Given the description of an element on the screen output the (x, y) to click on. 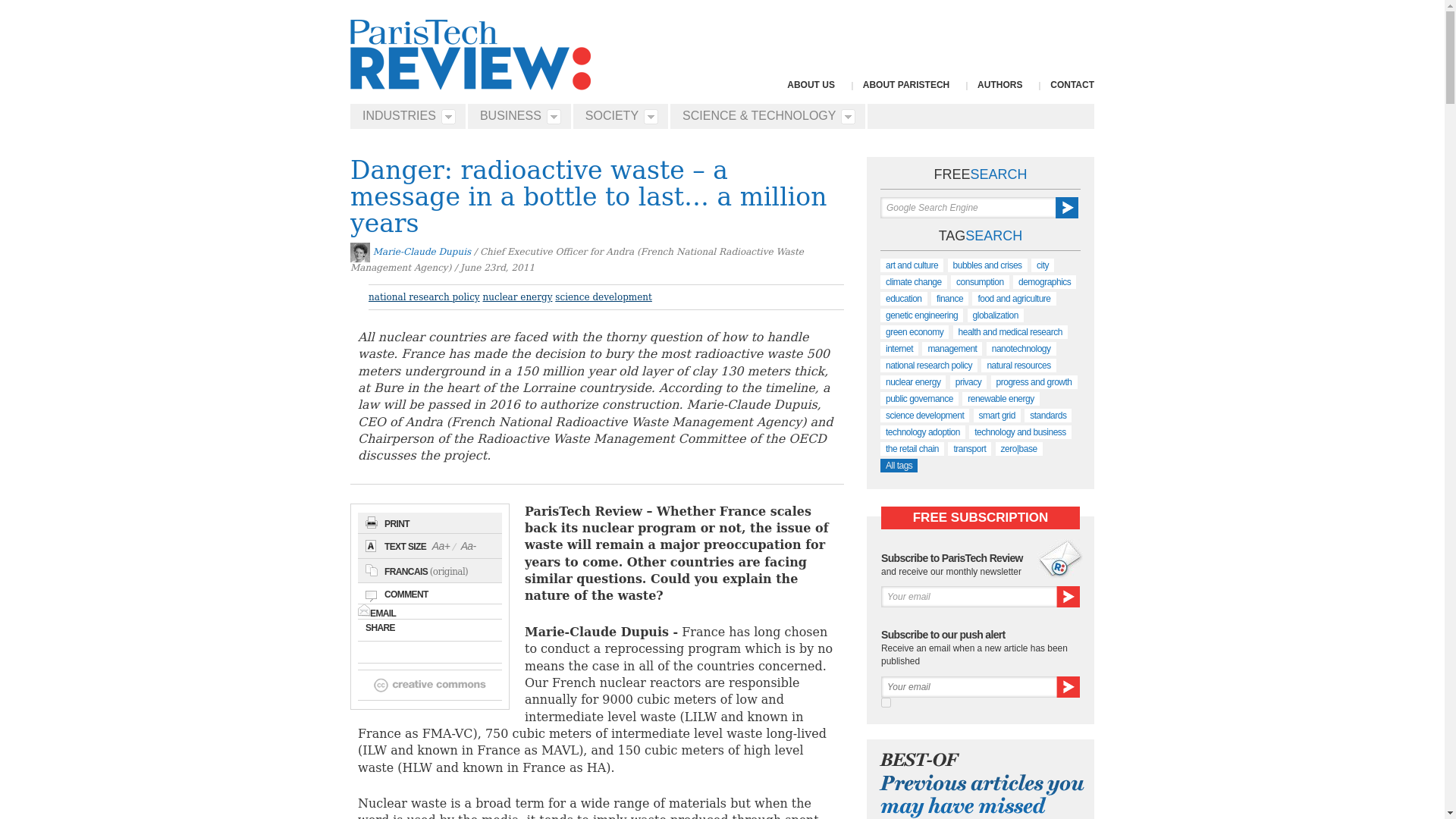
Search (1066, 207)
Your email (968, 596)
SendPush (1068, 686)
BUSINESS (515, 116)
ABOUT US (810, 84)
INDUSTRIES (404, 116)
fr (885, 702)
AUTHORS (999, 84)
ABOUT PARISTECH (906, 84)
Send (1068, 596)
CONTACT (1071, 84)
SOCIETY (617, 116)
Google Search Engine (967, 207)
